Given the description of an element on the screen output the (x, y) to click on. 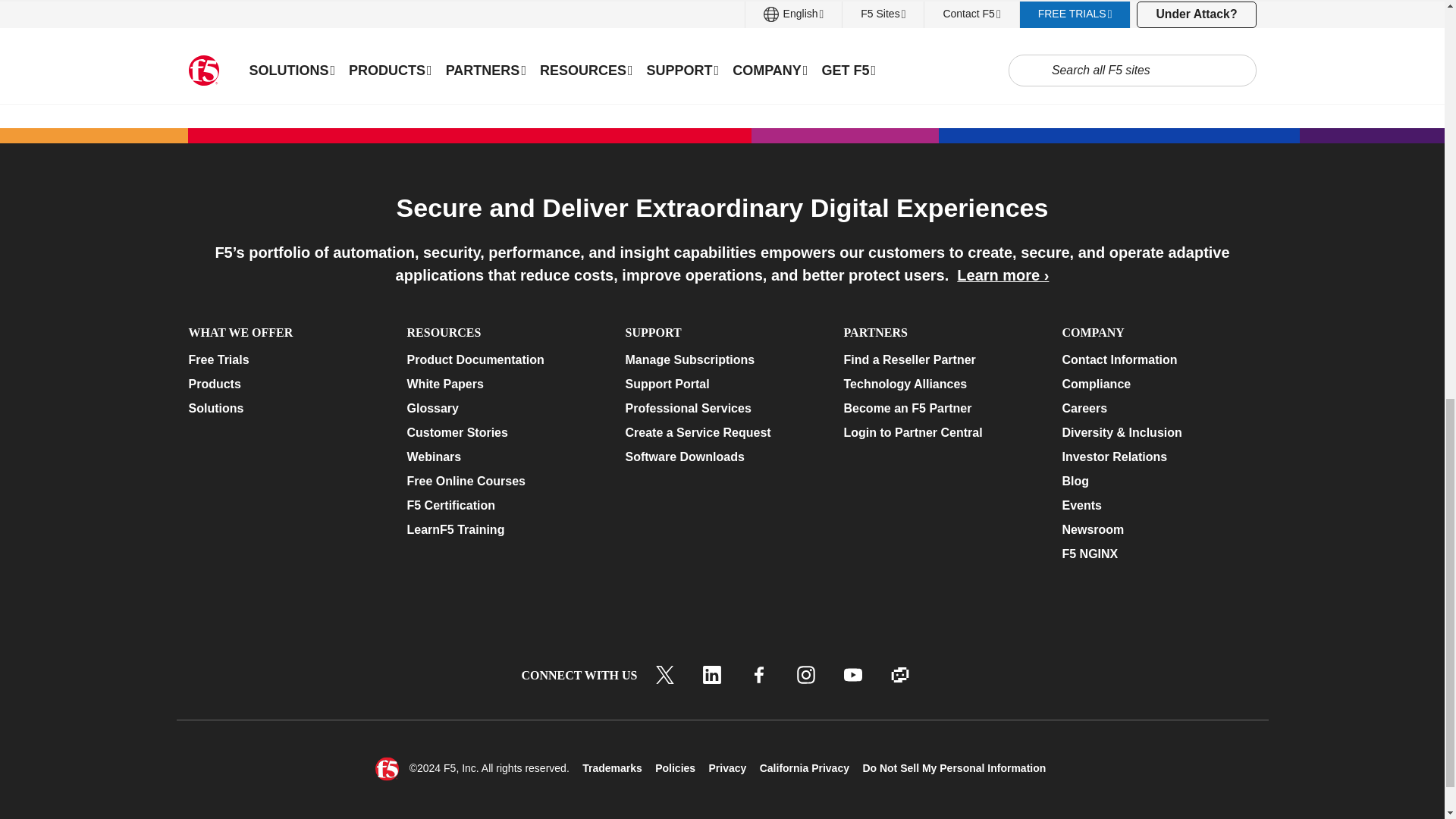
LearnF5 Training (502, 529)
Glossary (502, 408)
Solutions (284, 408)
Free Online Courses (502, 481)
White Papers (502, 384)
Customer Stories (502, 433)
Products (284, 384)
Web Application Security Solutions (414, 38)
Product Documentation (502, 360)
Free Trials (284, 360)
F5 Certification (502, 505)
Webinars (502, 456)
DDoS Protection (353, 58)
